Given the description of an element on the screen output the (x, y) to click on. 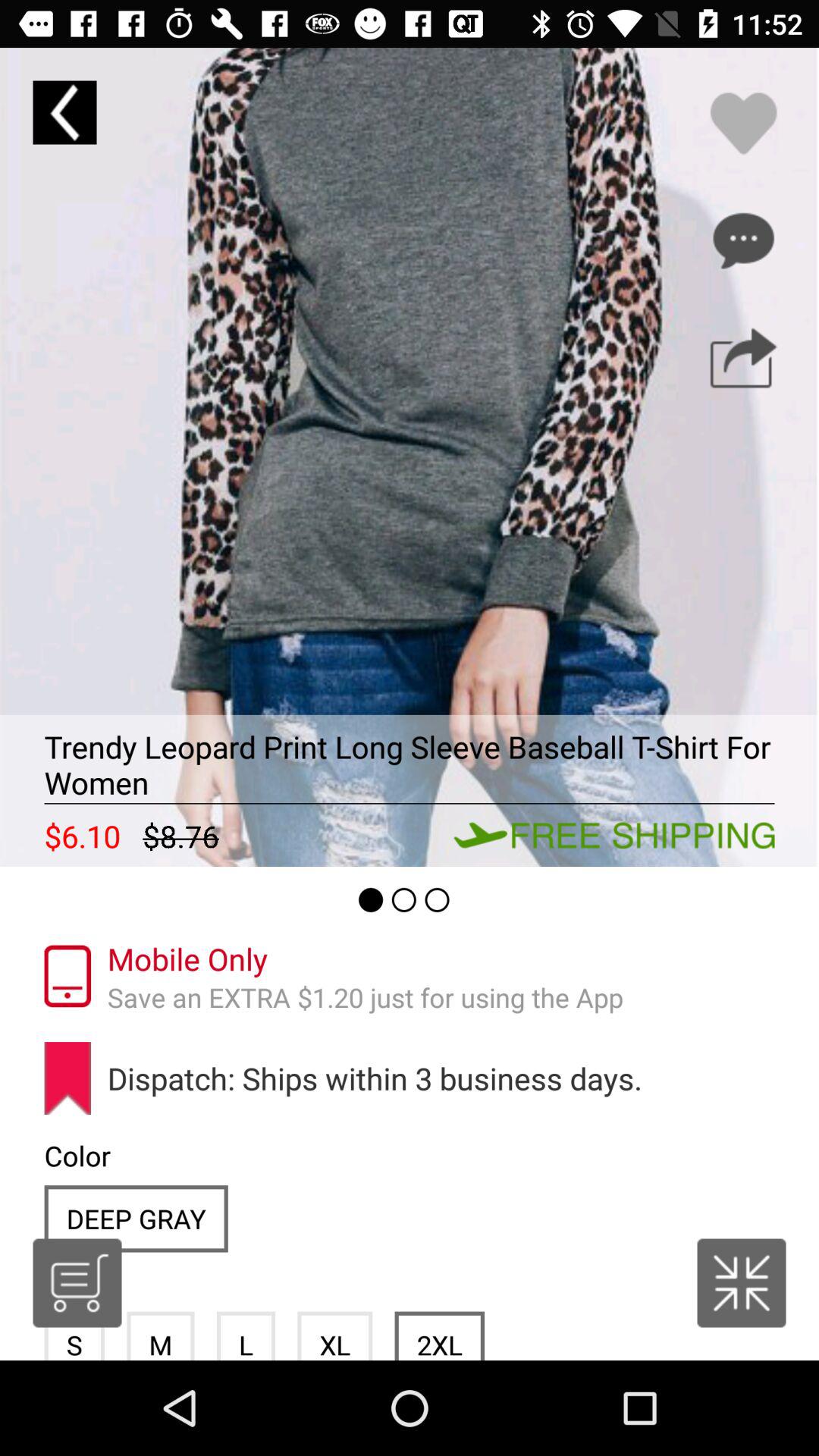
share this product (743, 358)
